Given the description of an element on the screen output the (x, y) to click on. 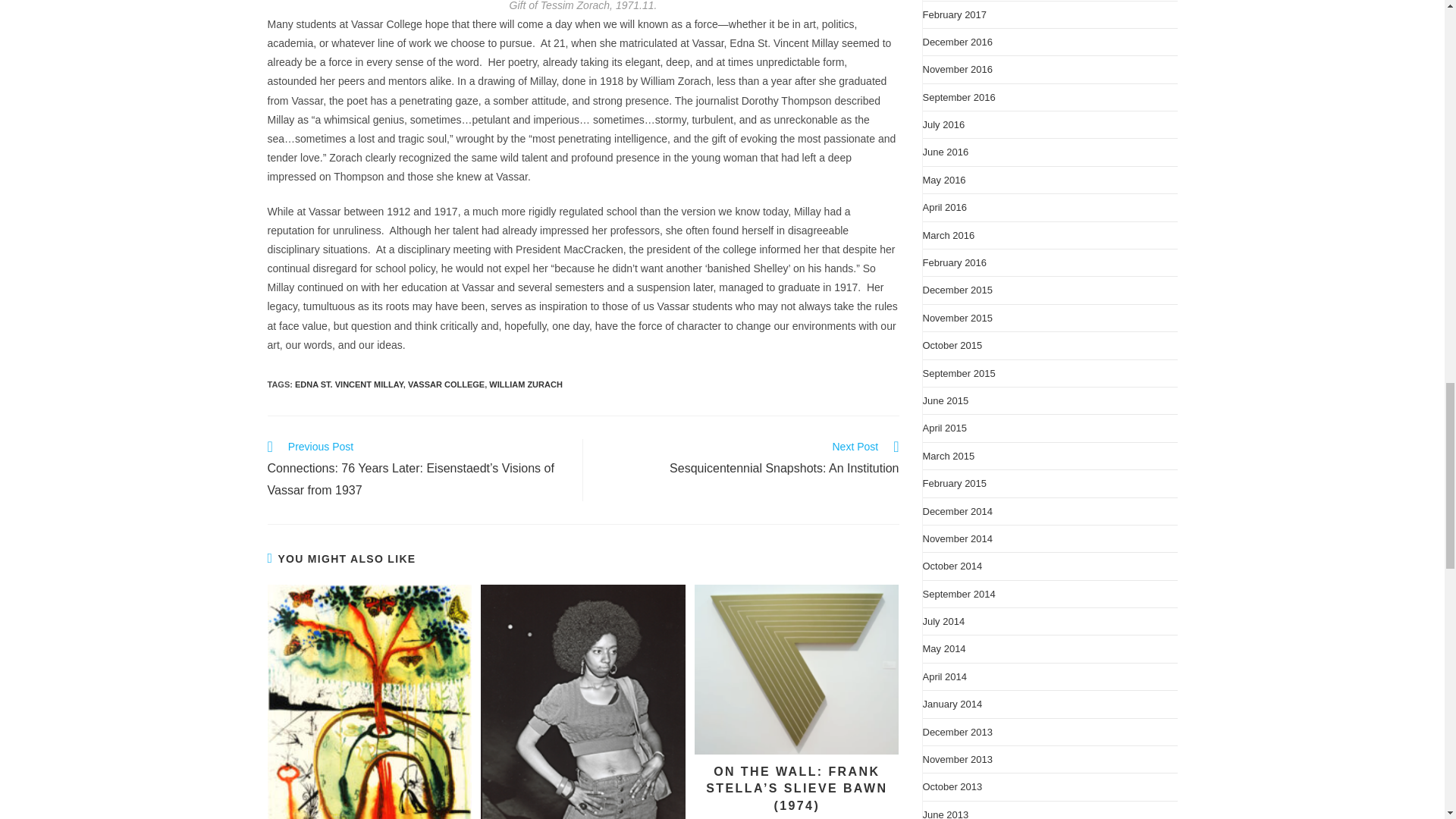
WILLIAM ZURACH (525, 384)
VASSAR COLLEGE (445, 384)
EDNA ST. VINCENT MILLAY (349, 384)
